Given the description of an element on the screen output the (x, y) to click on. 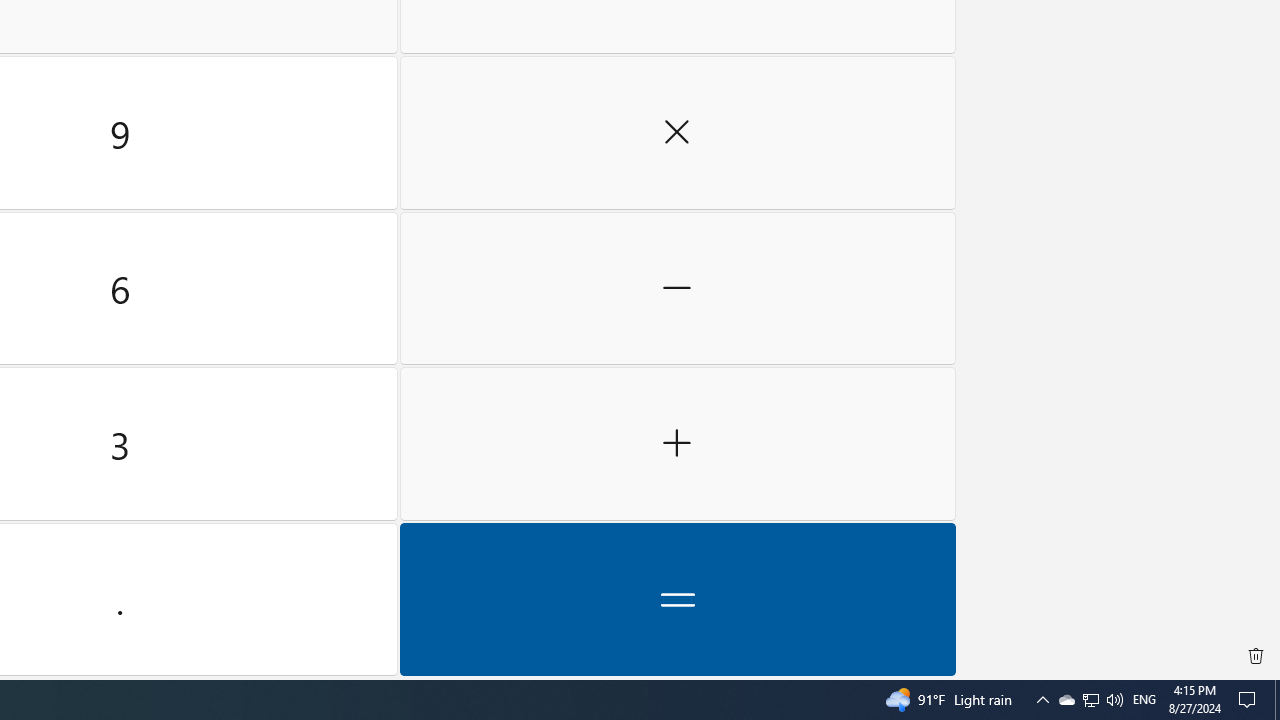
Plus (677, 444)
Show desktop (1066, 699)
Multiply by (1277, 699)
Action Center, No new notifications (677, 133)
Q2790: 100% (1250, 699)
Tray Input Indicator - English (United States) (1114, 699)
User Promoted Notification Area (1144, 699)
Equals (1090, 699)
Minus (1091, 699)
Clear all history (677, 599)
Notification Chevron (677, 288)
